Given the description of an element on the screen output the (x, y) to click on. 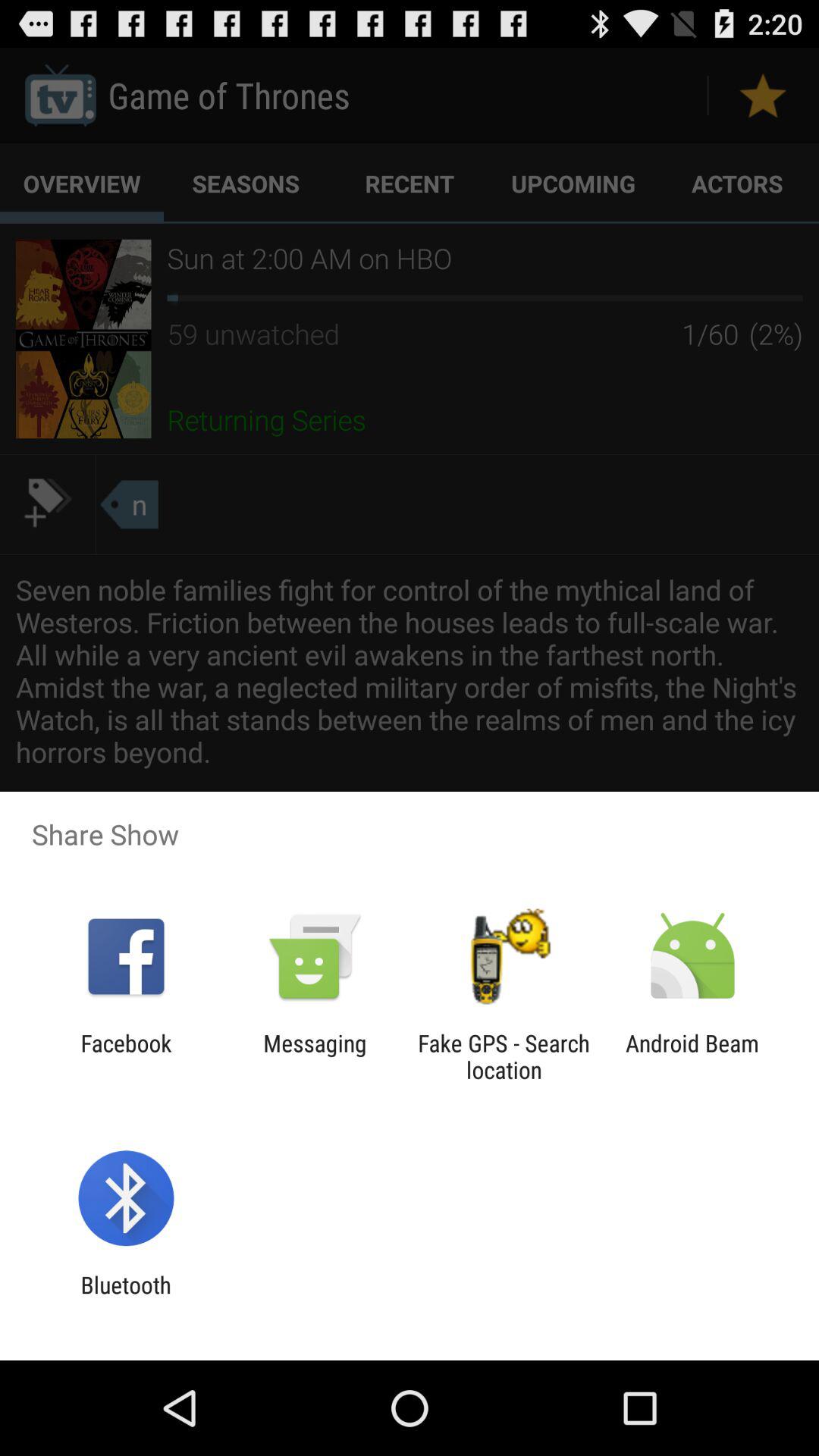
flip to facebook (125, 1056)
